Given the description of an element on the screen output the (x, y) to click on. 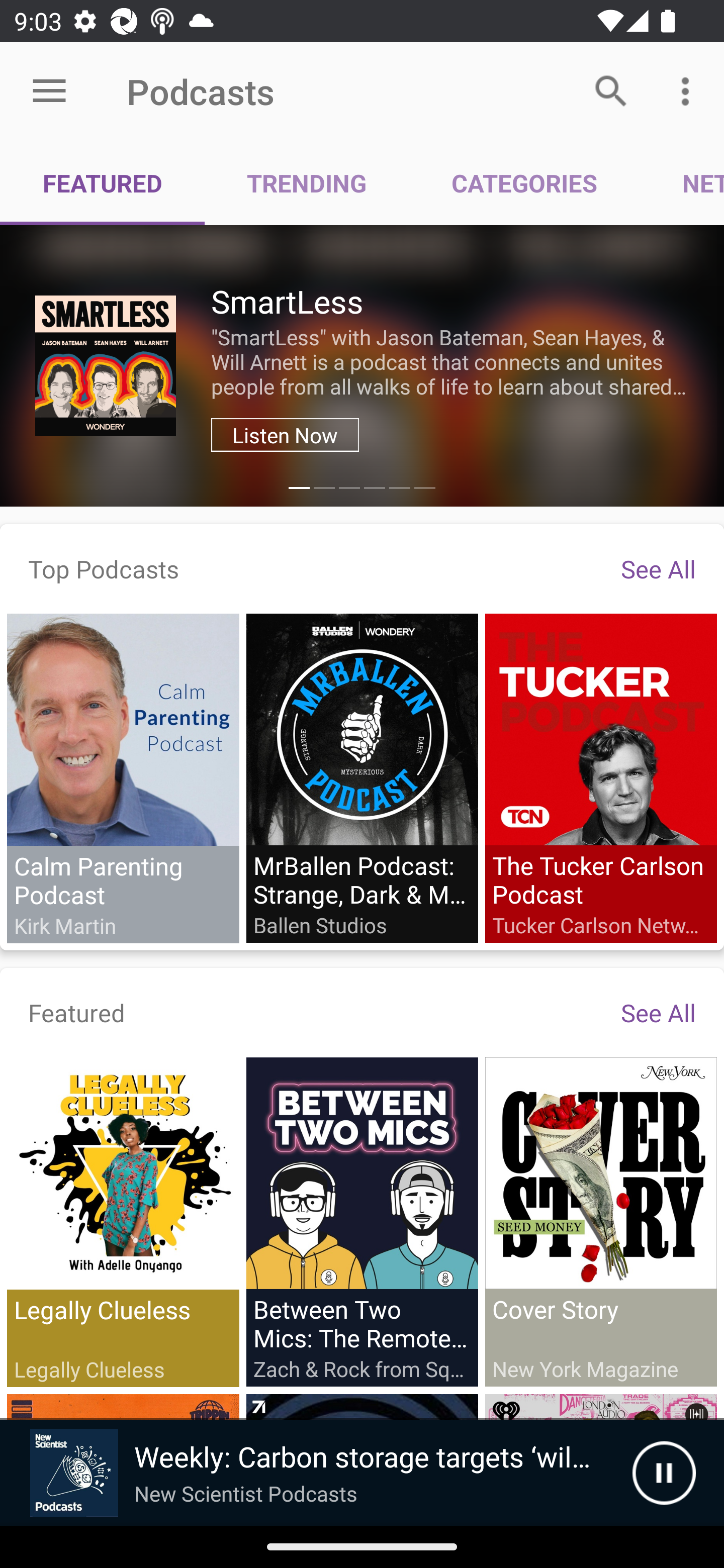
Open menu (49, 91)
Search (611, 90)
More options (688, 90)
FEATURED (102, 183)
TRENDING (306, 183)
CATEGORIES (524, 183)
Top Podcasts (103, 567)
See All (658, 567)
Calm Parenting Podcast Kirk Martin (123, 778)
The Tucker Carlson Podcast Tucker Carlson Network (600, 777)
Featured (76, 1011)
See All (658, 1011)
Legally Clueless (123, 1221)
Cover Story New York Magazine (600, 1221)
Pause (663, 1472)
